Given the description of an element on the screen output the (x, y) to click on. 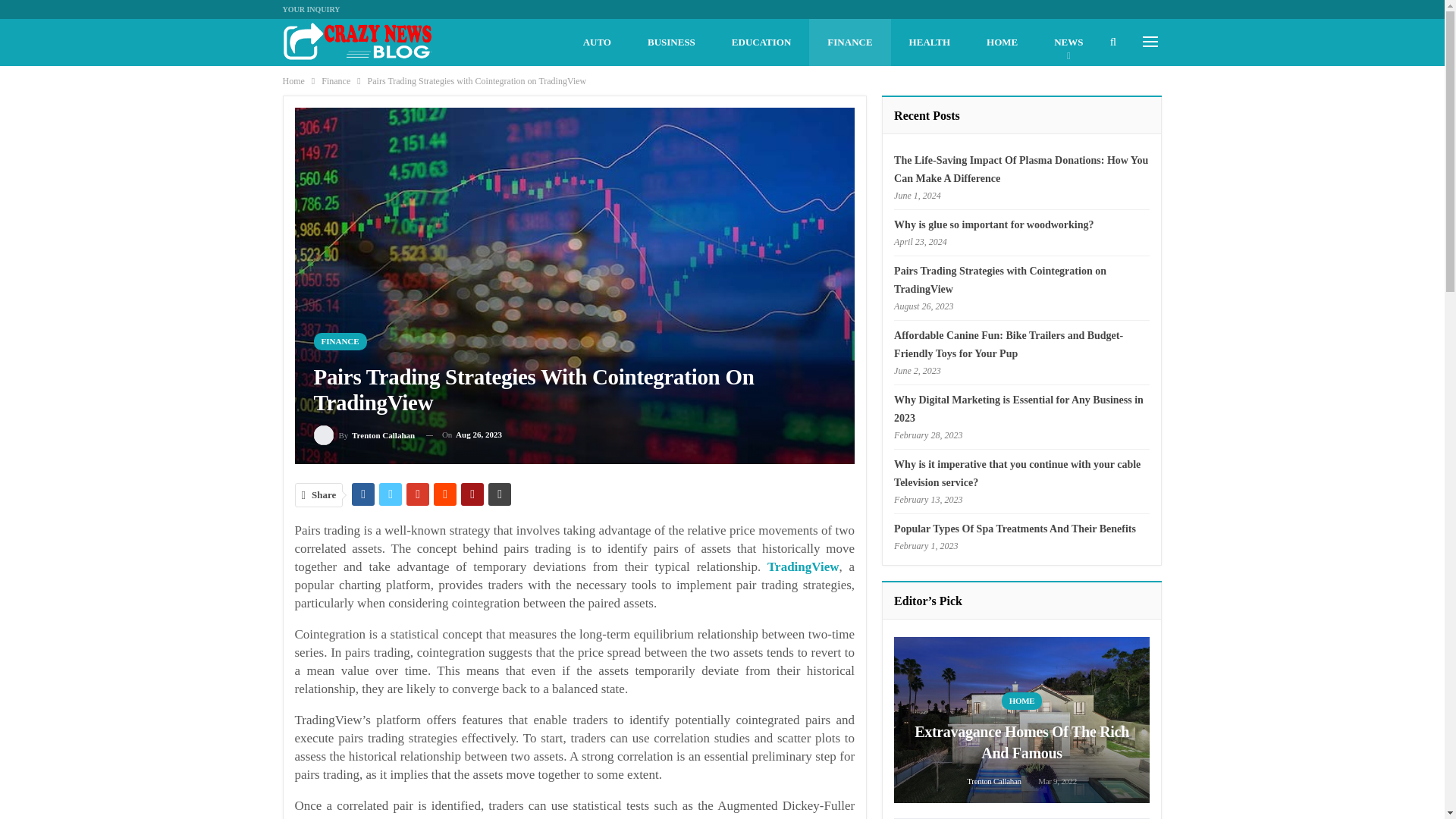
Home (293, 80)
Browse Author Articles (364, 435)
FINANCE (340, 341)
HOME (1001, 42)
By Trenton Callahan (364, 435)
FINANCE (849, 42)
Extravagance Homes of the Rich and Famous (1021, 719)
YOUR INQUIRY (310, 8)
